Given the description of an element on the screen output the (x, y) to click on. 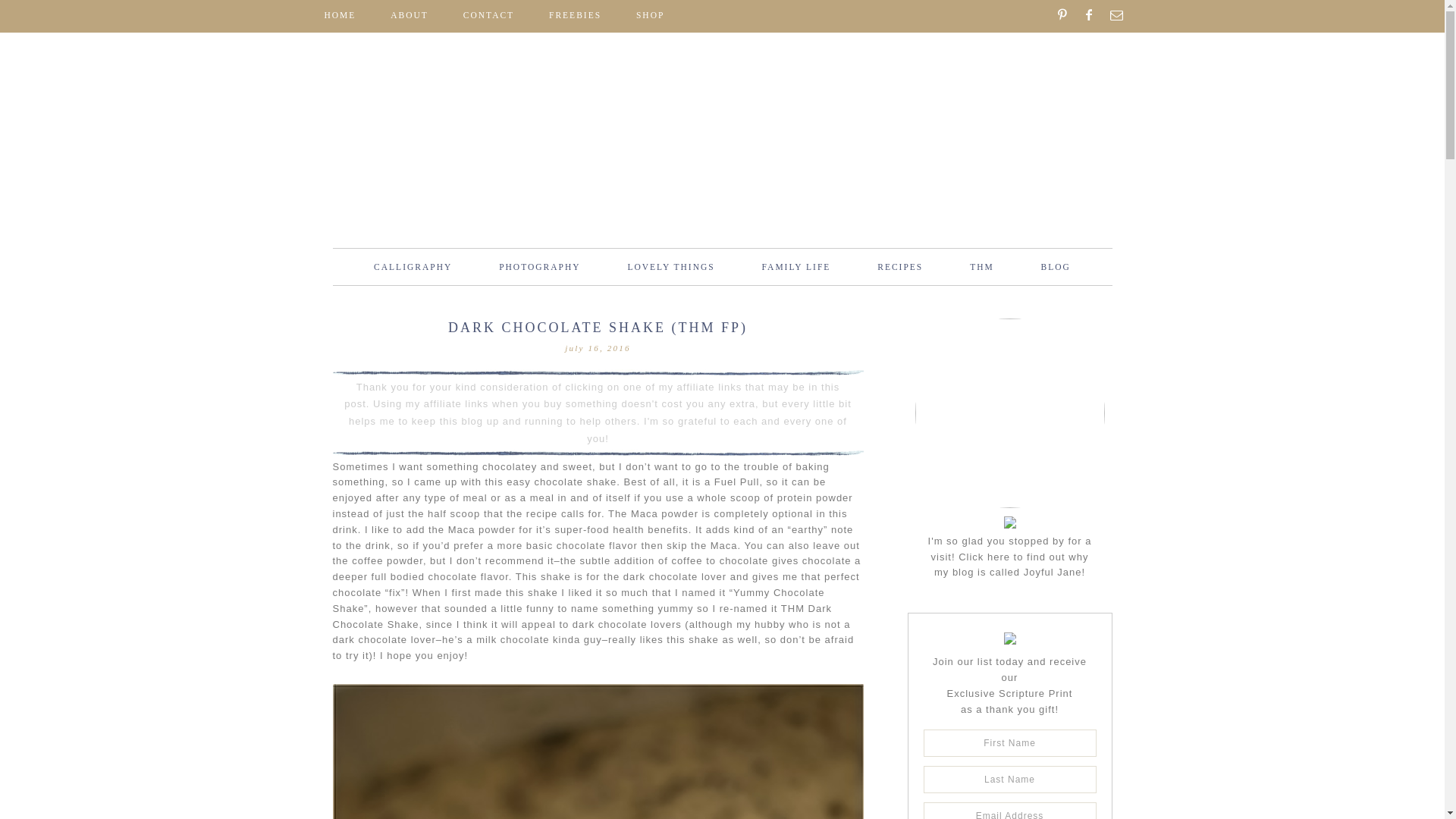
JOYFUL JANE (721, 169)
PHOTOGRAPHY (539, 266)
LOVELY THINGS (670, 266)
CALLIGRAPHY (412, 266)
ABOUT (409, 15)
FREEBIES (574, 15)
Facebook (1093, 14)
Pinterest (1067, 14)
THM (981, 266)
RECIPES (899, 266)
